Given the description of an element on the screen output the (x, y) to click on. 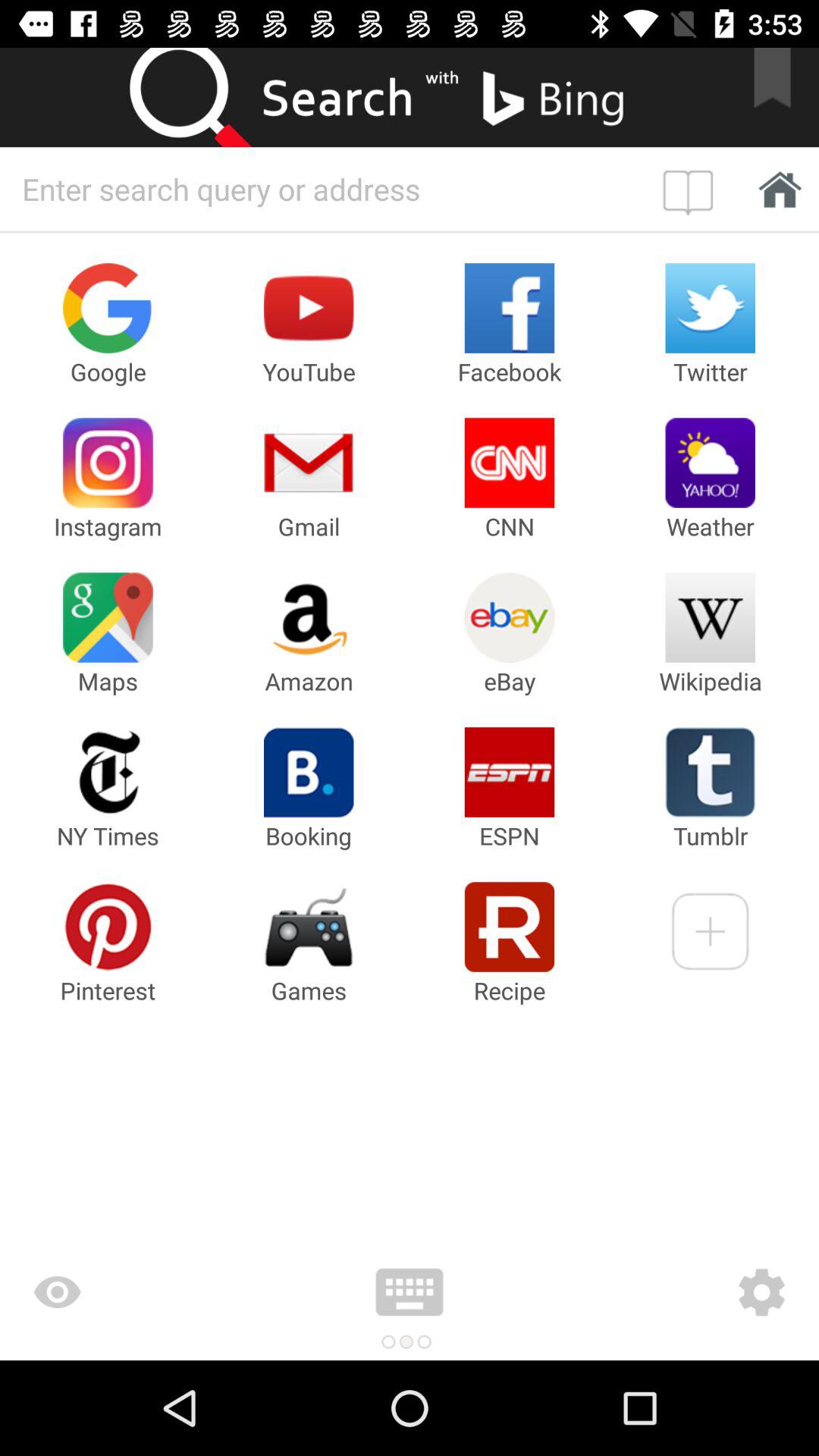
go to home page (691, 188)
